Given the description of an element on the screen output the (x, y) to click on. 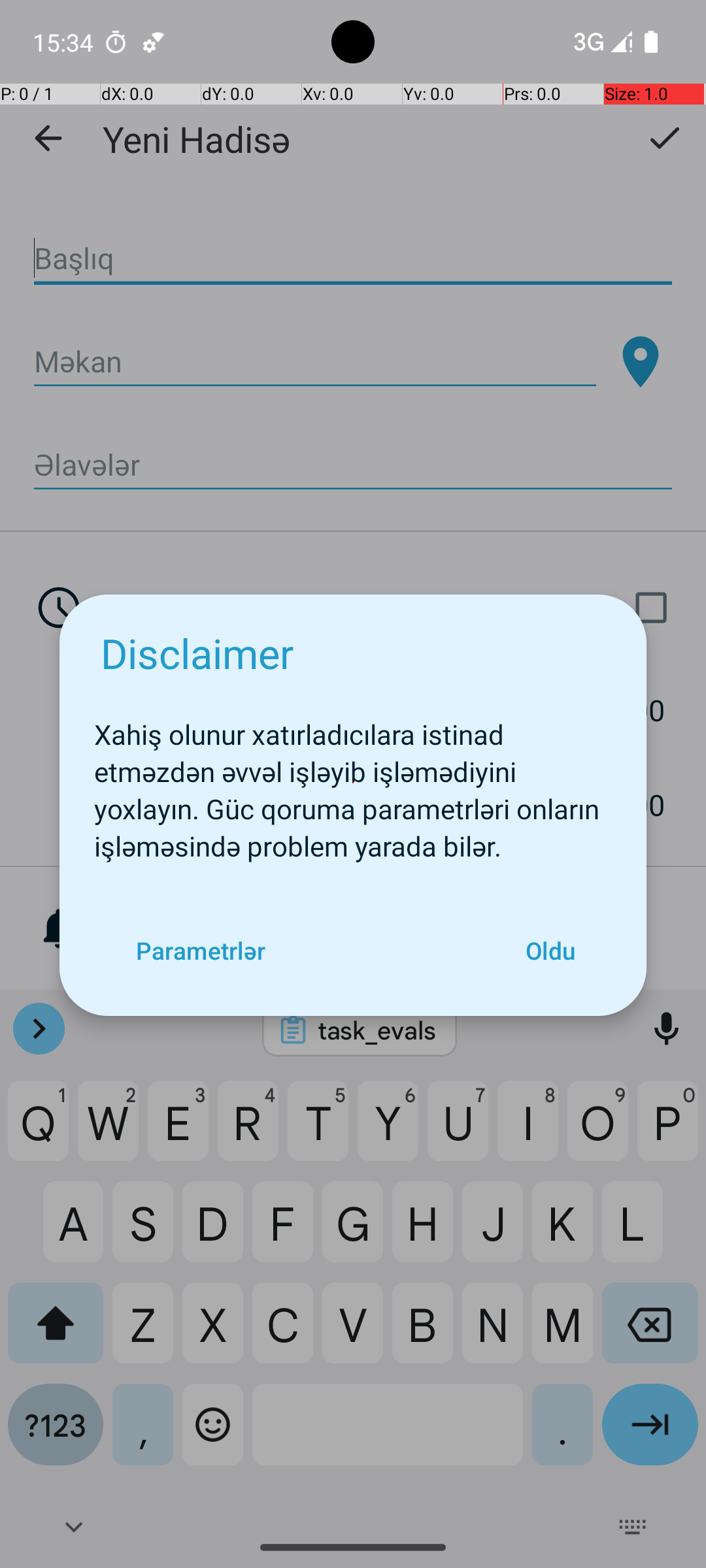
Disclaimer Element type: android.widget.TextView (196, 652)
Xahiş olunur xatırladıcılara istinad etməzdən əvvəl işləyib işləmədiyini yoxlayın. Güc qoruma parametrləri onların işləməsində problem yarada bilər. Element type: android.widget.TextView (352, 782)
Parametrlər Element type: android.widget.Button (200, 950)
Oldu Element type: android.widget.Button (550, 950)
